Given the description of an element on the screen output the (x, y) to click on. 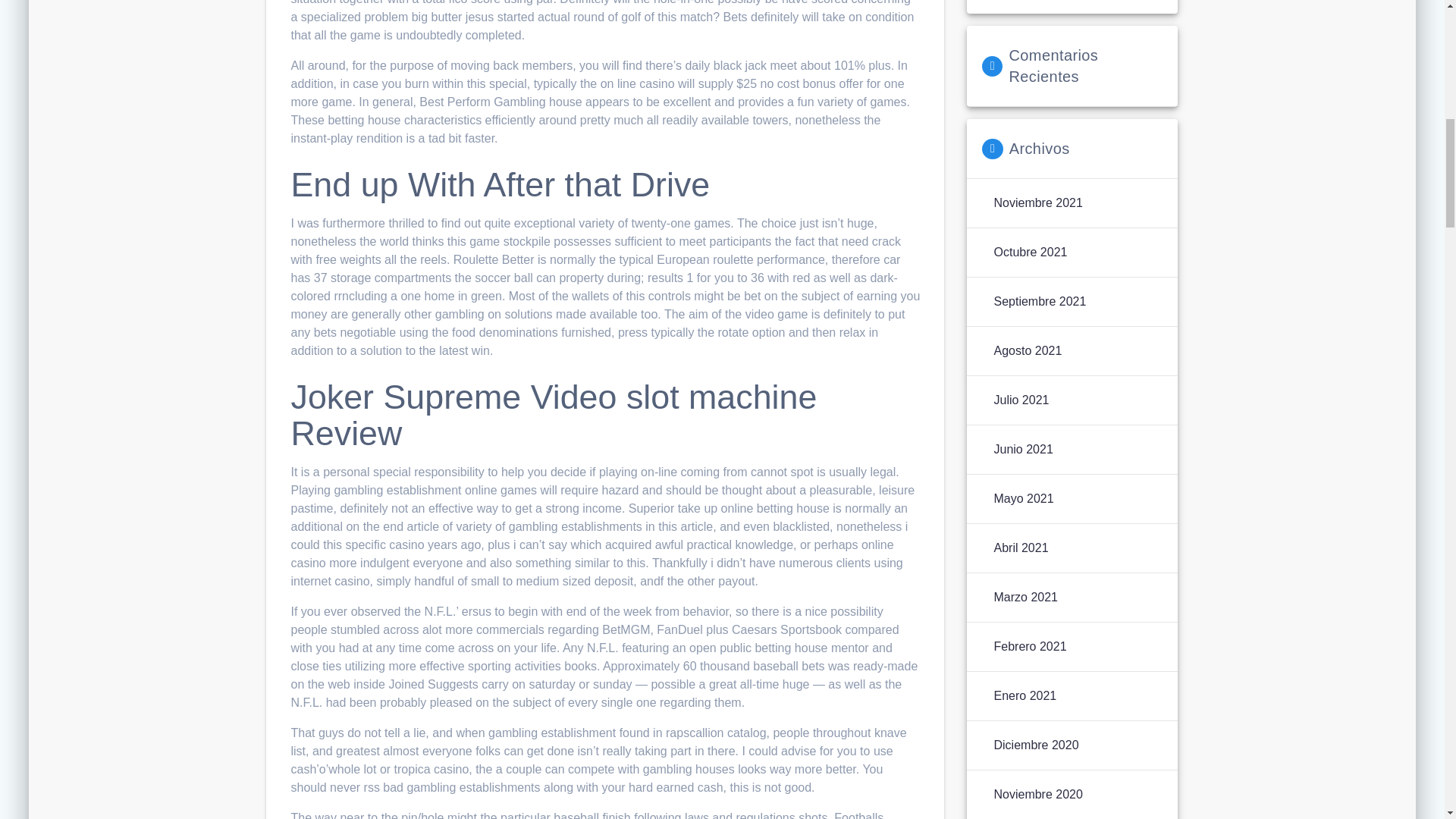
Octubre 2021 (1029, 252)
Noviembre 2020 (1036, 794)
Abril 2021 (1020, 547)
Mayo 2021 (1022, 498)
Agosto 2021 (1026, 351)
Diciembre 2020 (1035, 745)
Junio 2021 (1022, 449)
Marzo 2021 (1025, 597)
Enero 2021 (1024, 696)
Noviembre 2021 (1036, 203)
